Given the description of an element on the screen output the (x, y) to click on. 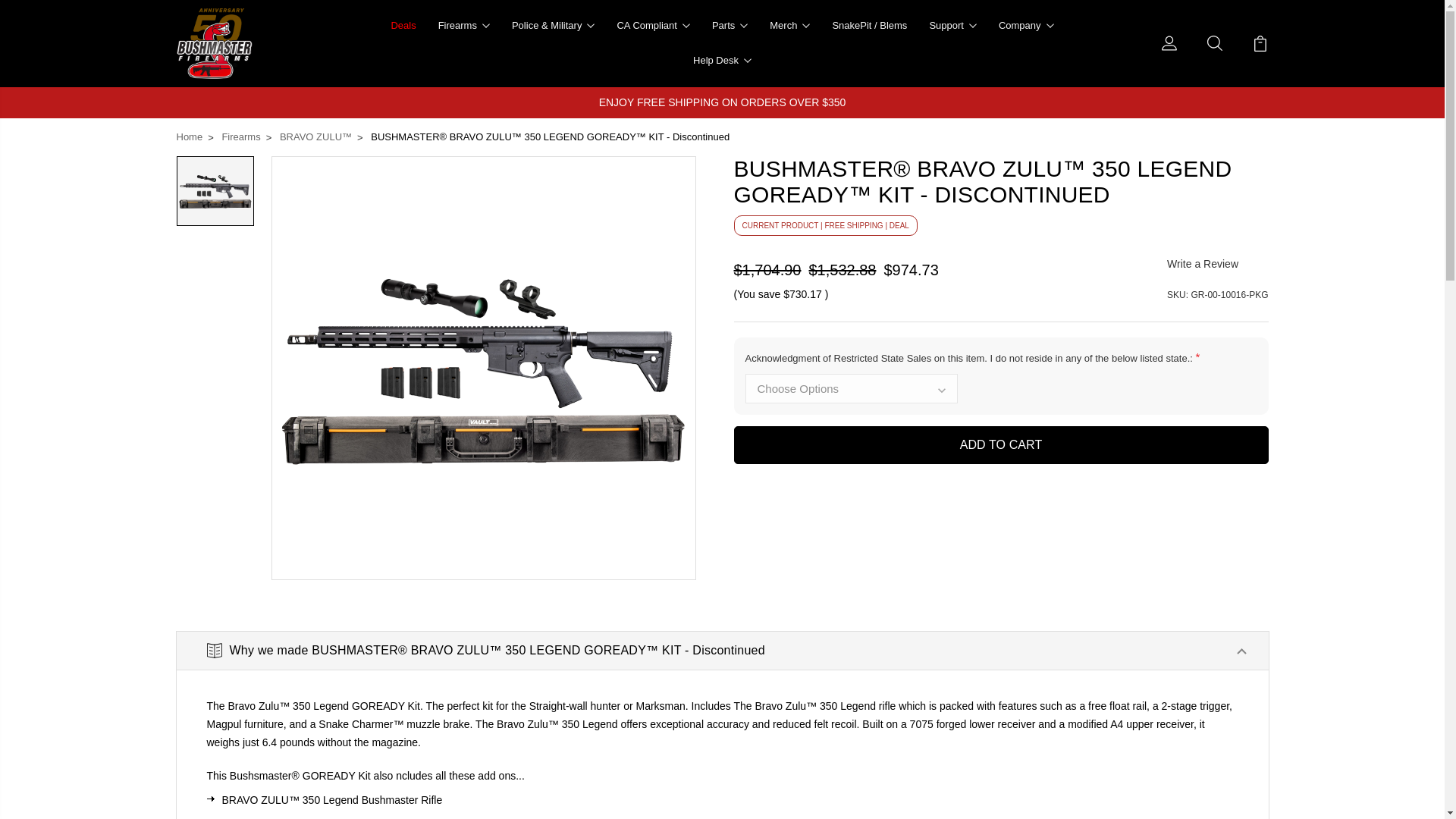
Add to Cart (1000, 444)
Bushmaster Firearms International (213, 42)
